Given the description of an element on the screen output the (x, y) to click on. 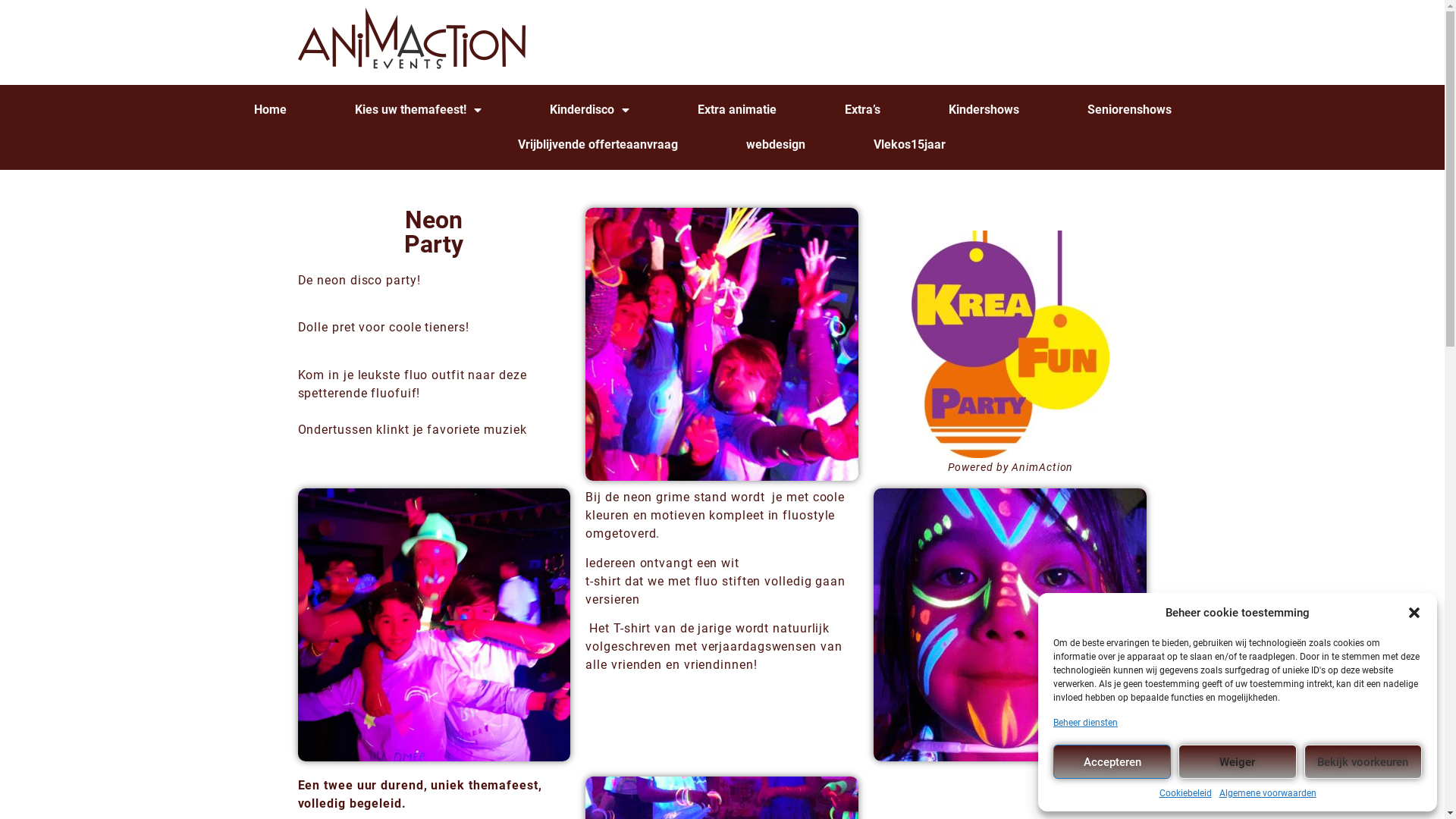
Beheer diensten Element type: text (1085, 722)
Home Element type: text (269, 109)
Weiger Element type: text (1236, 761)
Vrijblijvende offerteaanvraag Element type: text (597, 144)
Seniorenshows Element type: text (1129, 109)
Cookiebeleid Element type: text (1184, 793)
webdesign Element type: text (775, 144)
Vlekos15jaar Element type: text (909, 144)
Extra animatie Element type: text (736, 109)
Kinderdisco Element type: text (589, 109)
Bekijk voorkeuren Element type: text (1362, 761)
Algemene voorwaarden Element type: text (1267, 793)
Accepteren Element type: text (1111, 761)
Kindershows Element type: text (983, 109)
Kies uw themafeest! Element type: text (417, 109)
